Given the description of an element on the screen output the (x, y) to click on. 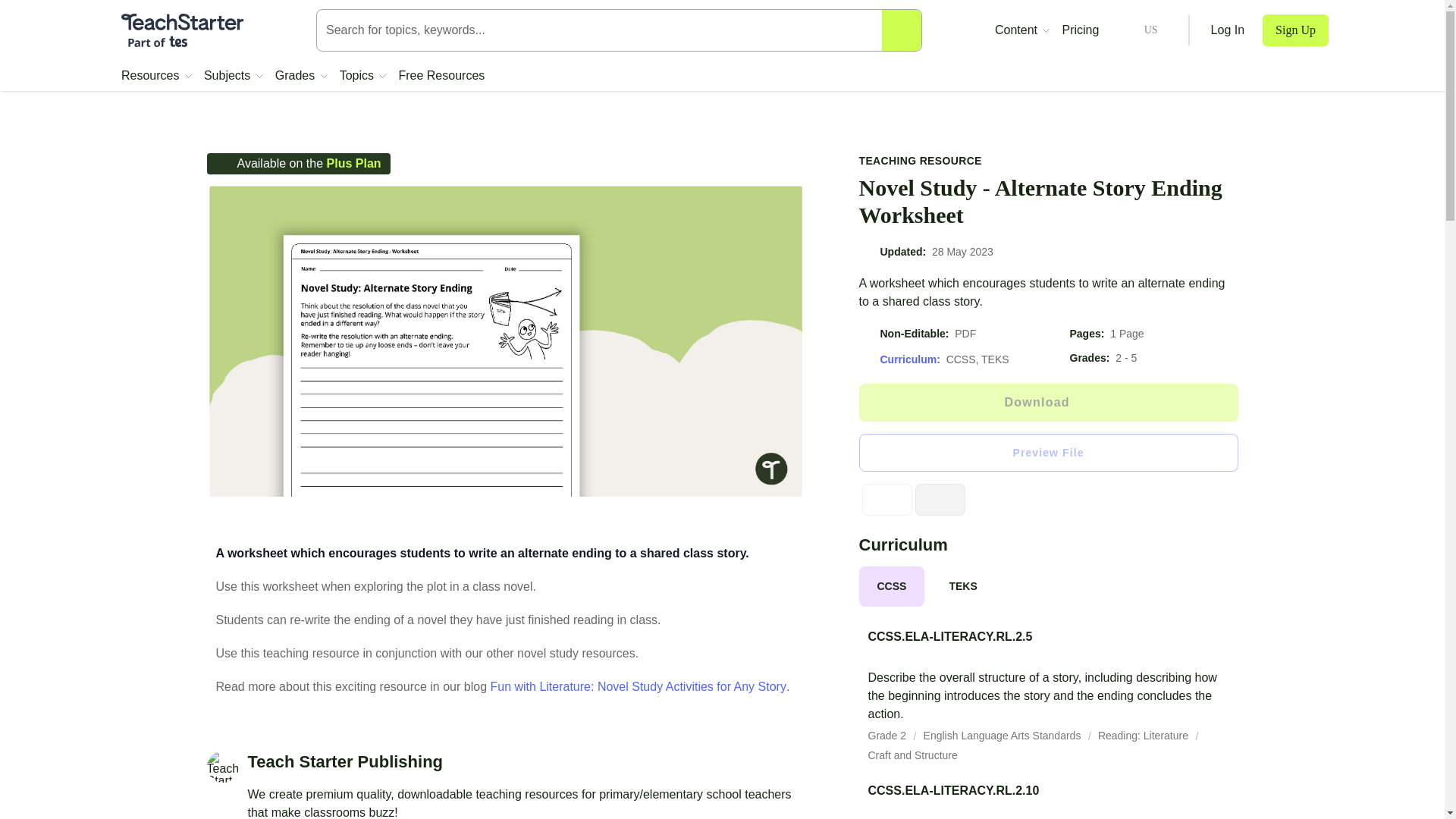
Create a Teach Starter account (1294, 29)
Log in to your account (1227, 30)
Change location (1138, 30)
Pricing (1080, 30)
Resources (156, 75)
Teach Starter, part of Tes (181, 29)
Content  (1021, 30)
US (1138, 30)
Blog, podcast, and webinars (1021, 30)
Sign Up (1294, 29)
